Given the description of an element on the screen output the (x, y) to click on. 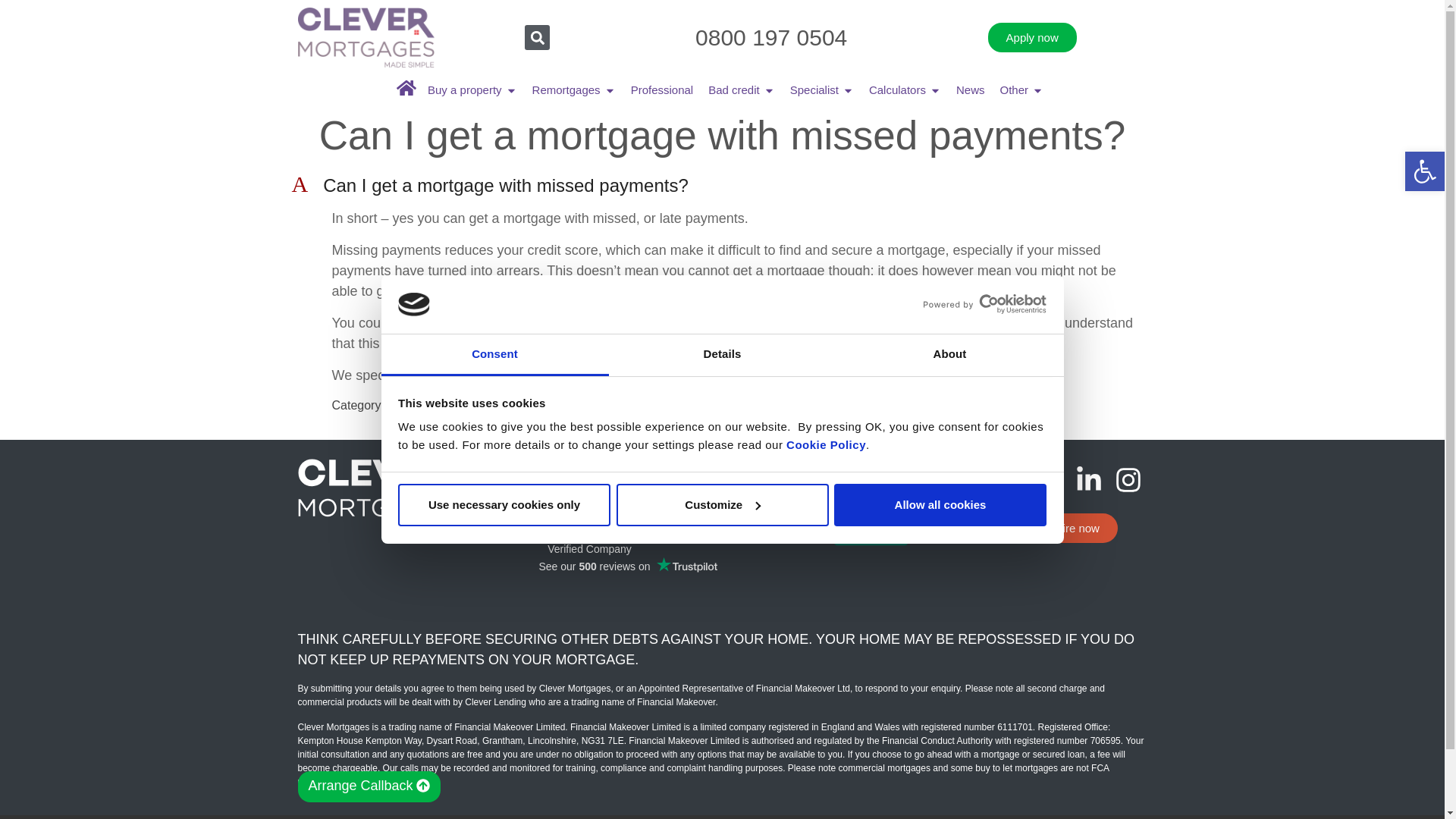
Consent (494, 355)
Details (721, 355)
About (948, 355)
Cookie Policy (826, 444)
Accessibility Tools (1424, 170)
